Given the description of an element on the screen output the (x, y) to click on. 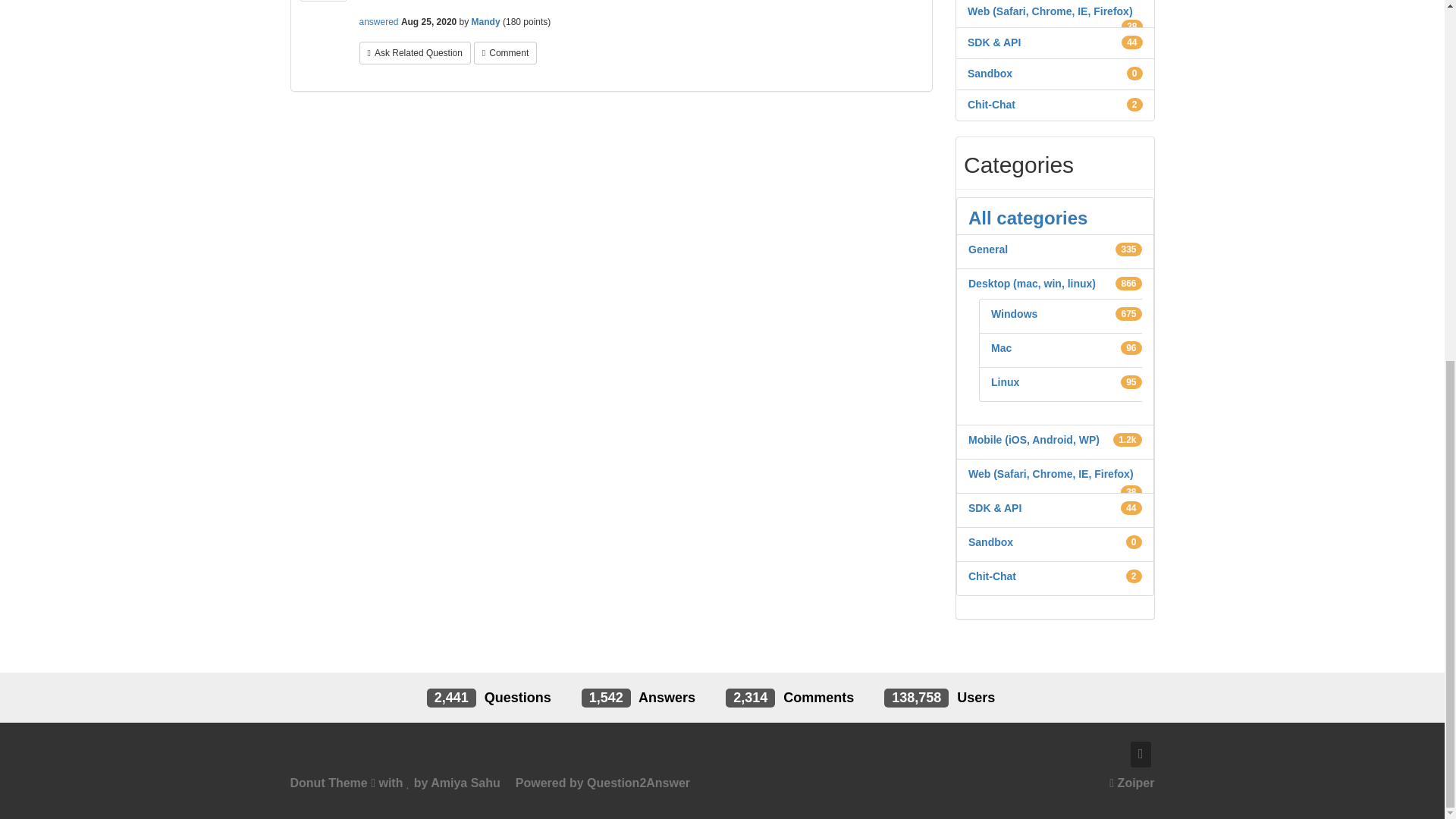
Mandy (485, 21)
Comment (505, 52)
Ask Related Question (414, 52)
answered (378, 21)
